Given the description of an element on the screen output the (x, y) to click on. 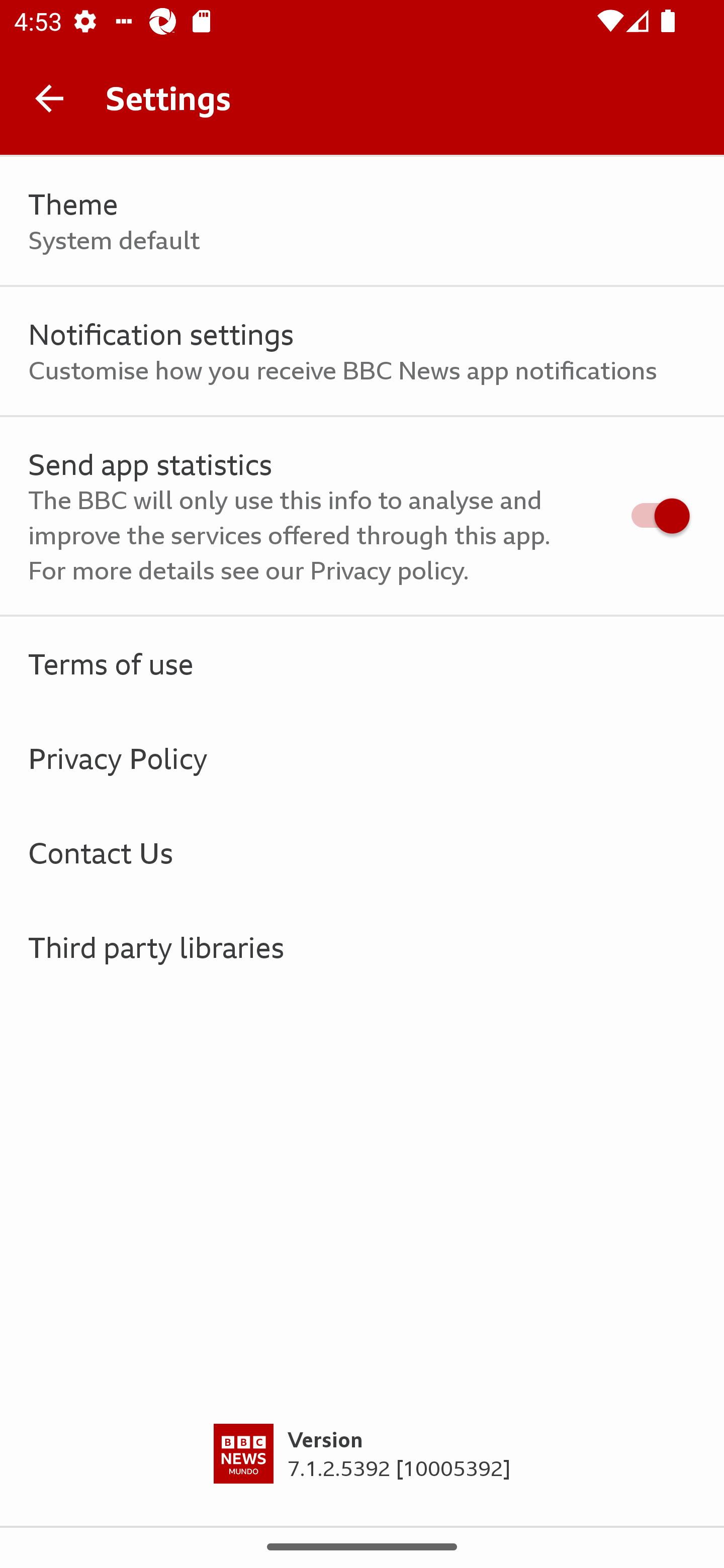
Back (49, 97)
Theme System default (362, 220)
Terms of use (362, 663)
Privacy Policy (362, 758)
Contact Us (362, 852)
Third party libraries (362, 947)
Version 7.1.2.5392 [10005392] (362, 1474)
